Given the description of an element on the screen output the (x, y) to click on. 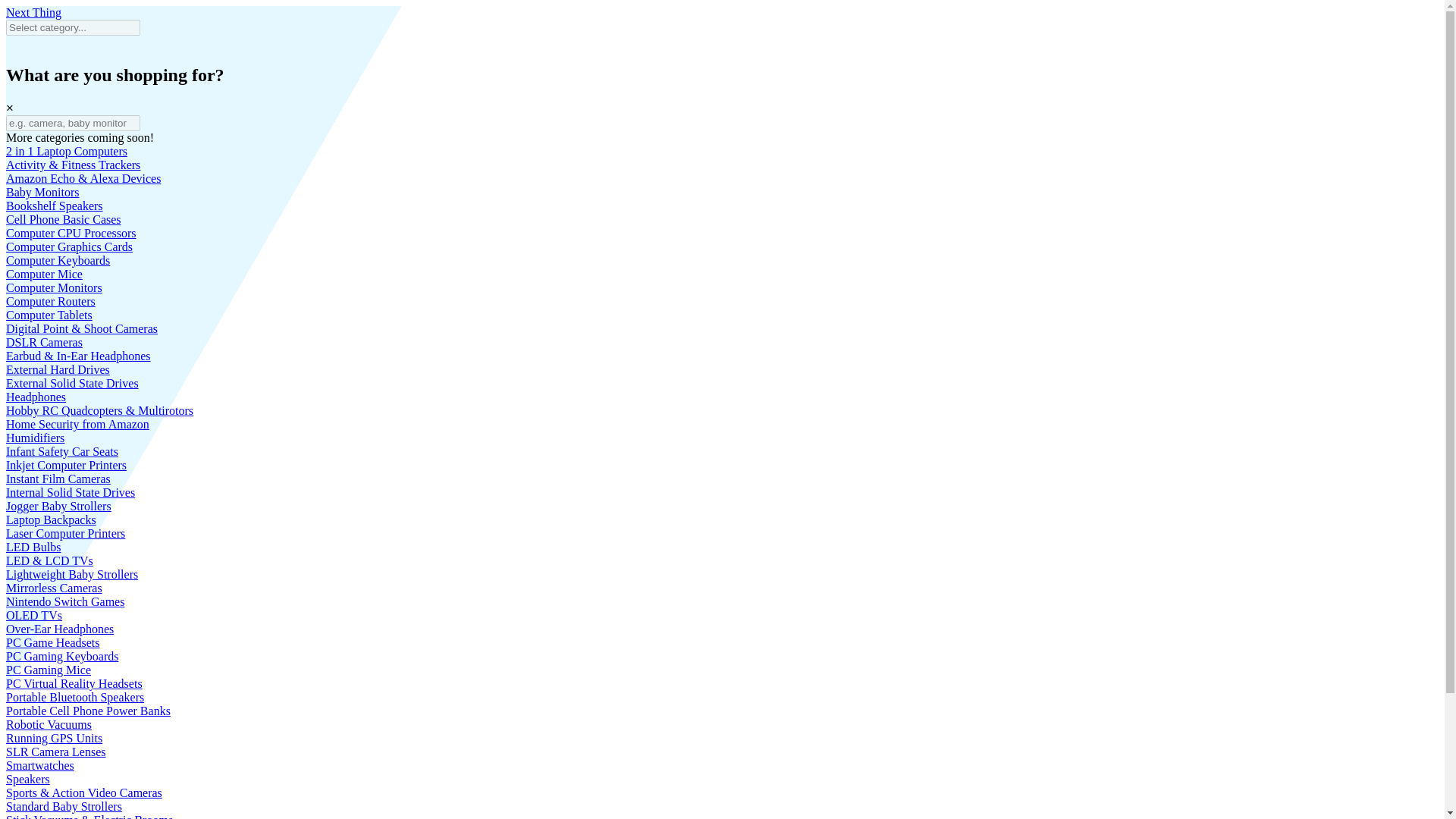
Next Thing (33, 11)
